Given the description of an element on the screen output the (x, y) to click on. 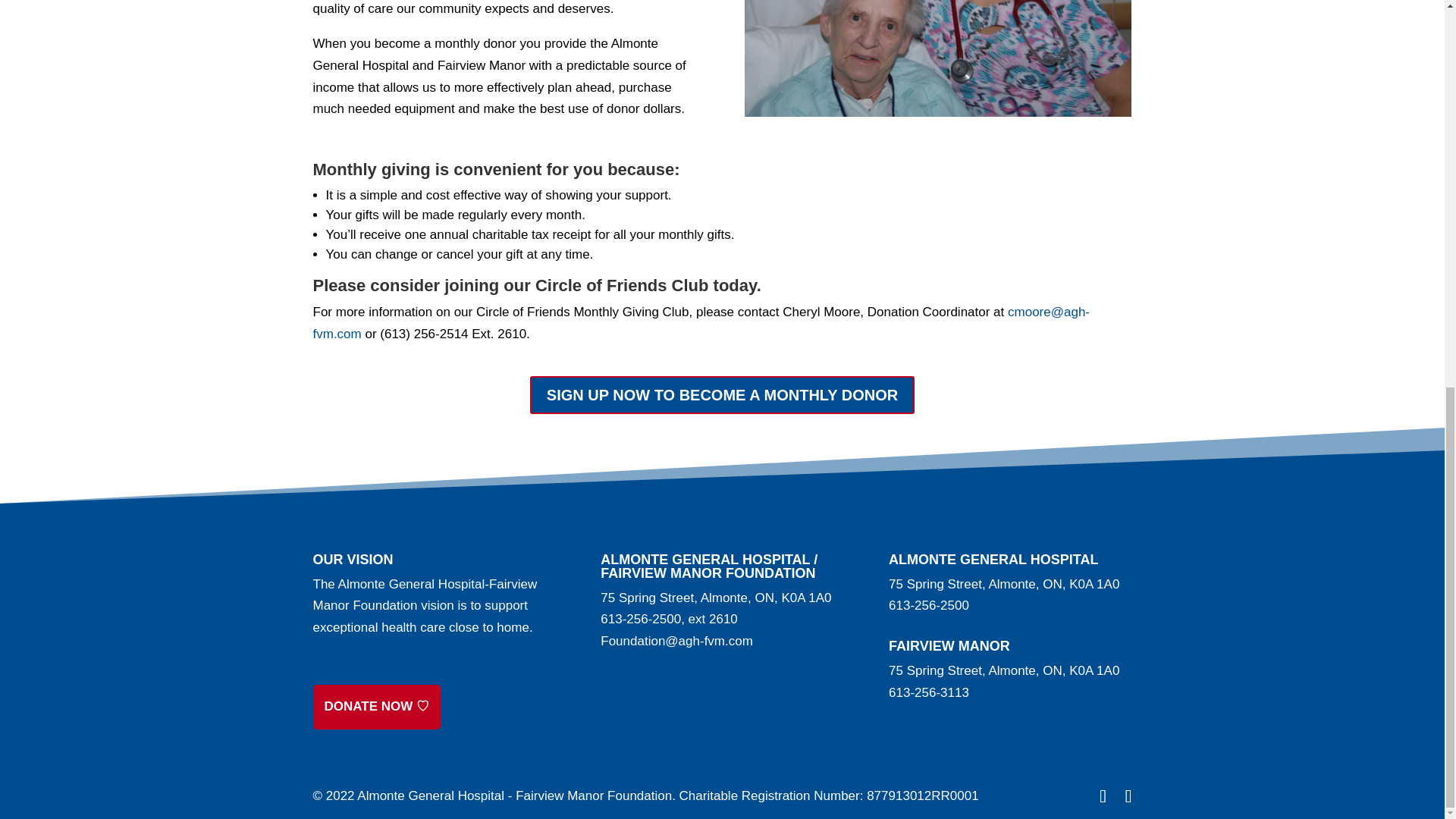
circle of friends (937, 58)
